Given the description of an element on the screen output the (x, y) to click on. 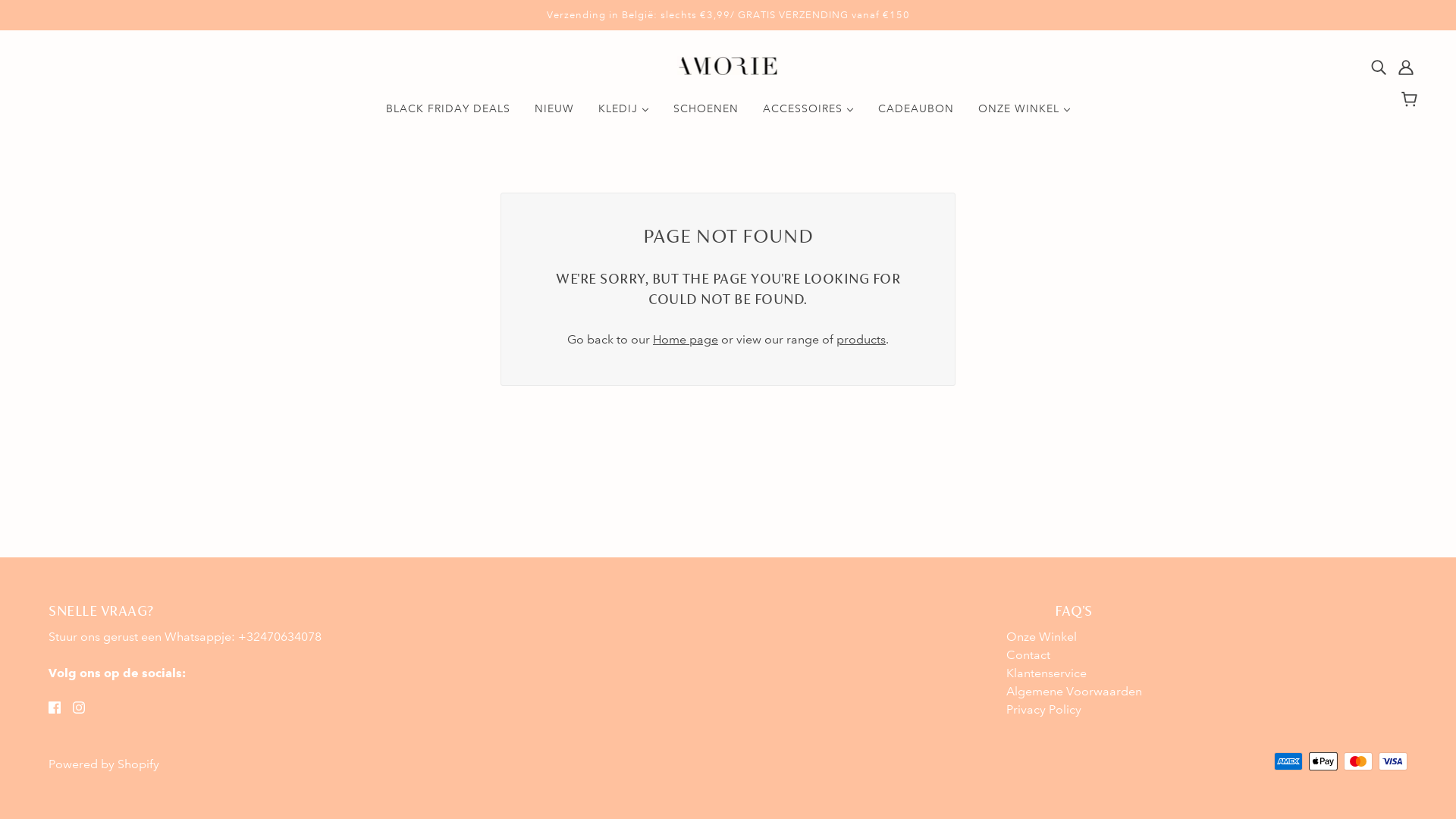
Powered by Shopify Element type: text (103, 764)
CADEAUBON Element type: text (916, 114)
Algemene Voorwaarden Element type: text (1073, 691)
ACCESSOIRES  Element type: text (808, 114)
SCHOENEN Element type: text (705, 114)
NIEUW Element type: text (553, 114)
KLEDIJ  Element type: text (622, 114)
Contact Element type: text (1027, 654)
Privacy Policy Element type: text (1042, 709)
products Element type: text (860, 339)
Amorie Element type: hover (727, 70)
Onze Winkel Element type: text (1040, 636)
ONZE WINKEL  Element type: text (1024, 114)
BLACK FRIDAY DEALS Element type: text (447, 114)
Home page Element type: text (685, 339)
Klantenservice Element type: text (1045, 672)
